Given the description of an element on the screen output the (x, y) to click on. 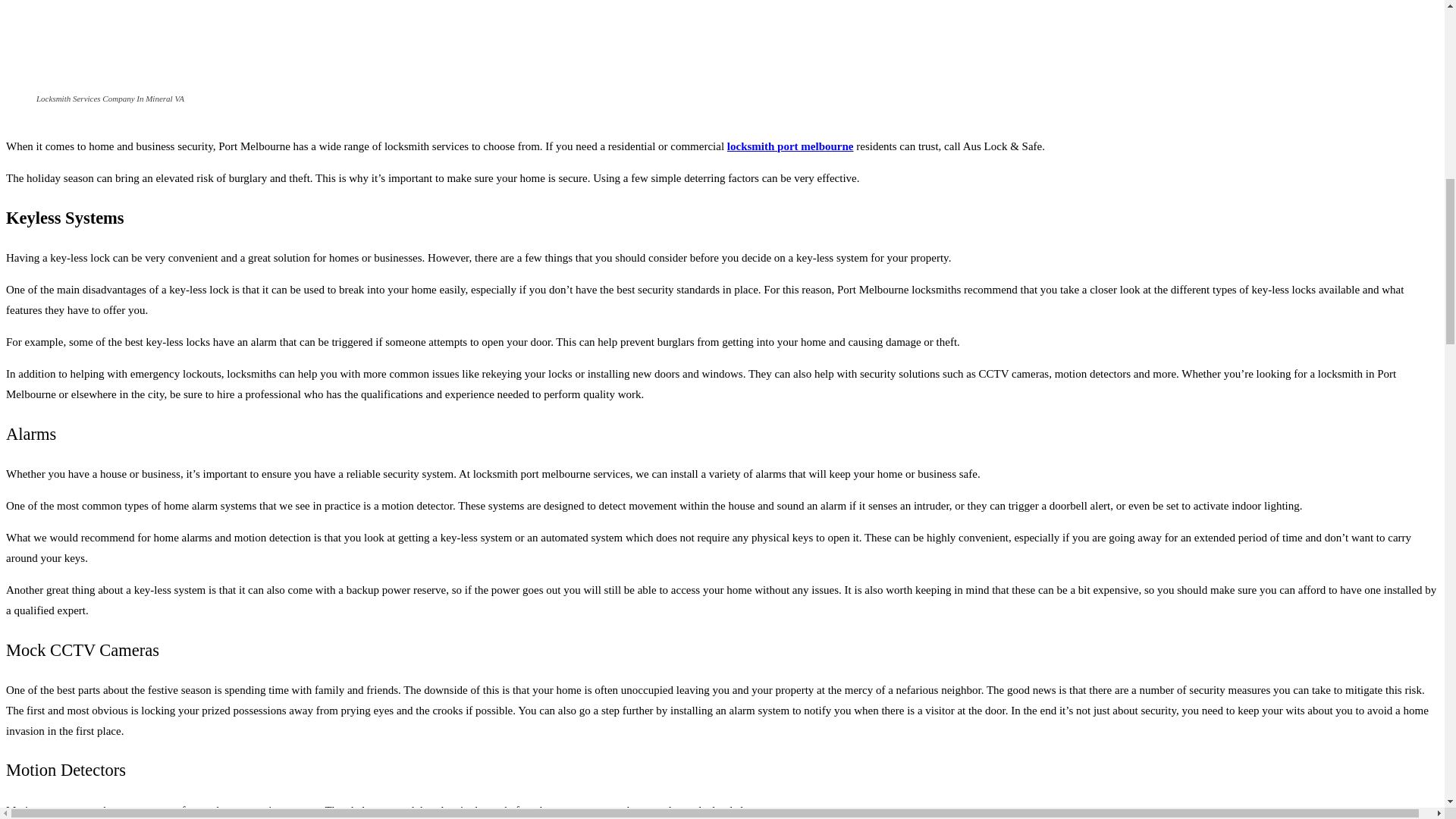
Locksmith Services Company In Mineral VA (721, 43)
